Given the description of an element on the screen output the (x, y) to click on. 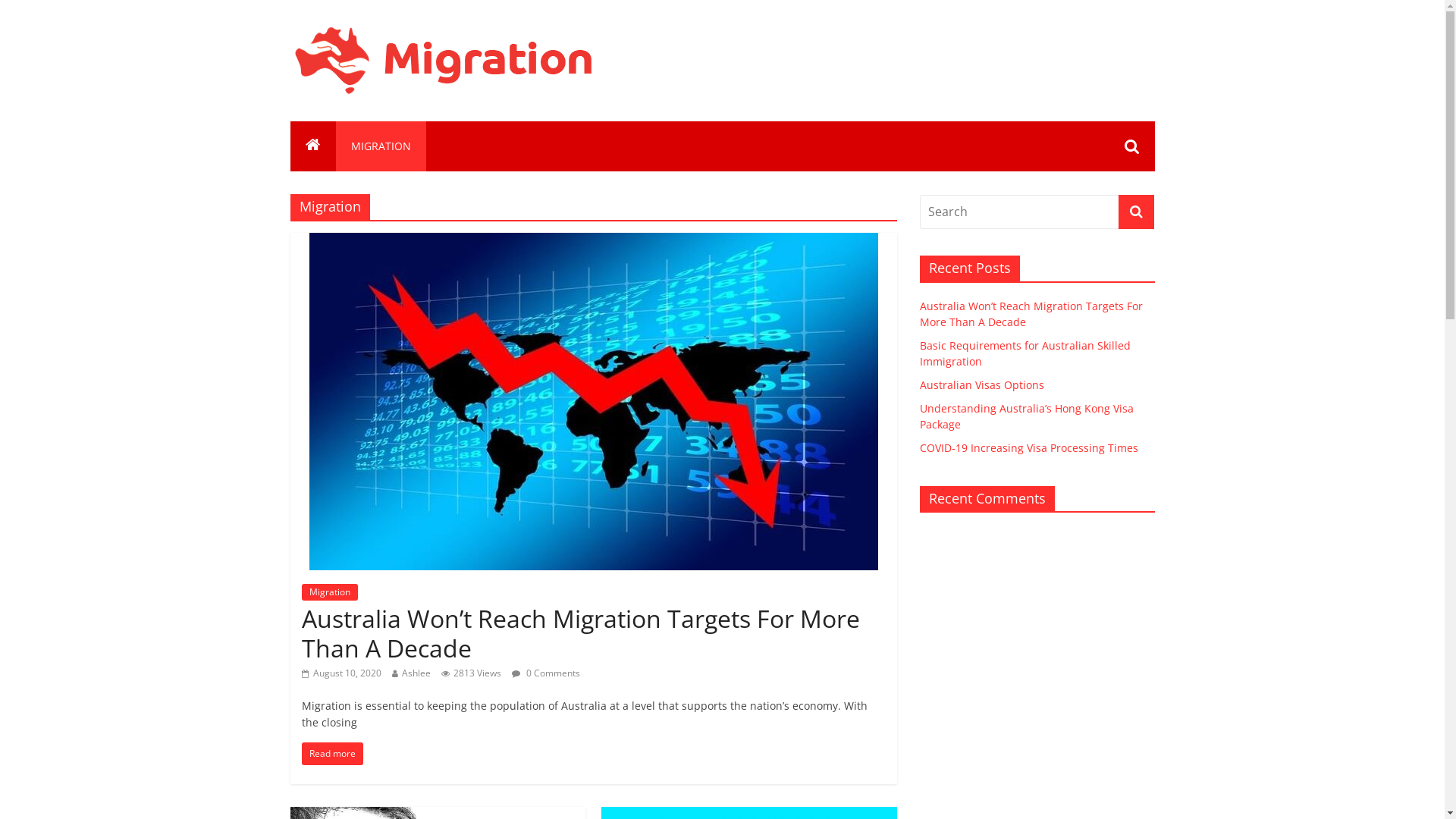
0 Comments Element type: text (545, 672)
COVID-19 Increasing Visa Processing Times Element type: text (1028, 447)
Basic Requirements for Australian Skilled Immigration Element type: text (1024, 353)
Migration Element type: hover (312, 146)
Ashlee Element type: text (415, 672)
Read more Element type: text (332, 753)
Migration Element type: text (367, 41)
Migration Element type: text (329, 591)
August 10, 2020 Element type: text (341, 672)
Australian Visas Options Element type: text (981, 384)
MIGRATION Element type: text (380, 146)
